Given the description of an element on the screen output the (x, y) to click on. 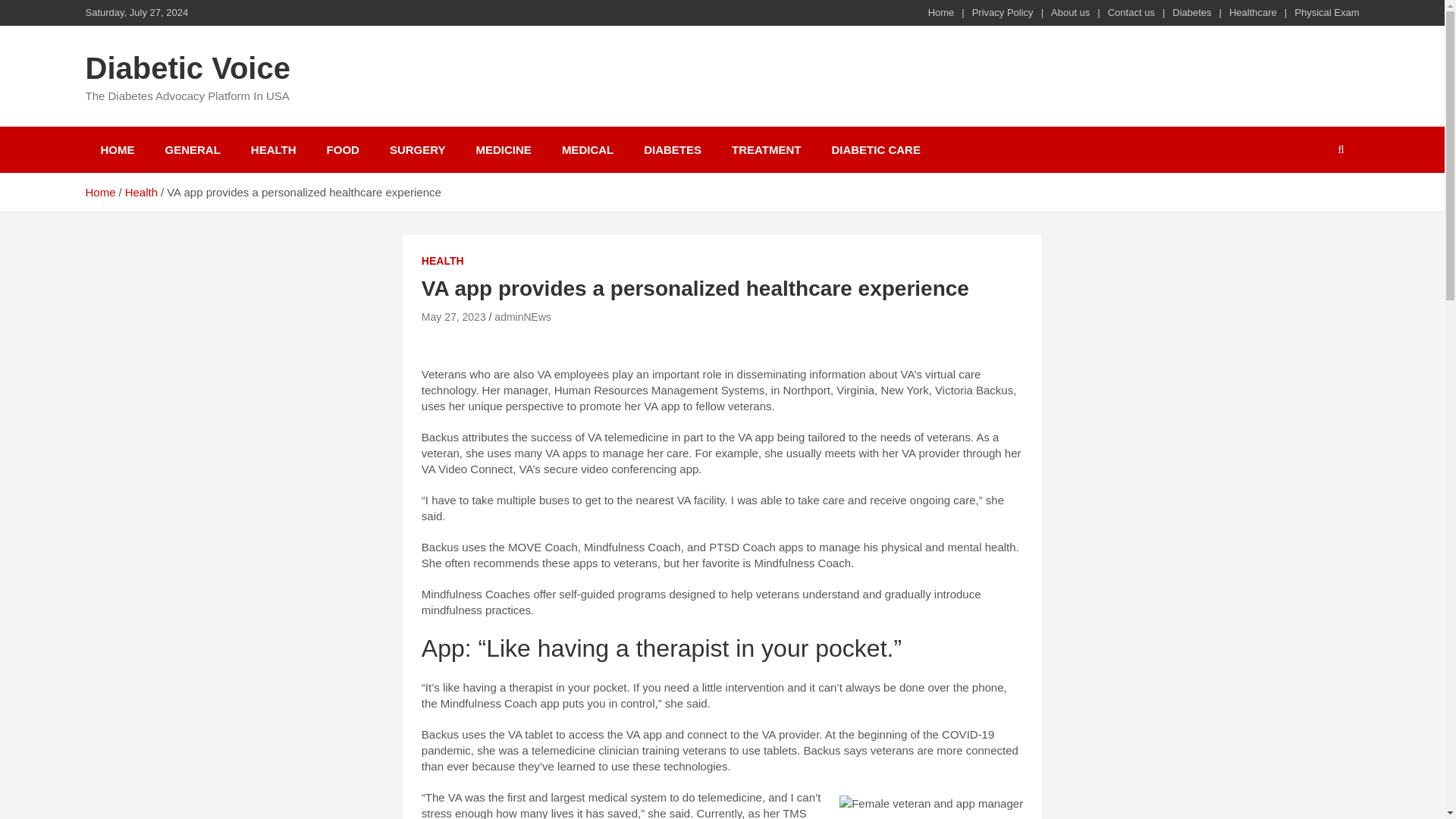
Diabetes (1191, 12)
MEDICINE (504, 149)
Physical Exam (1326, 12)
Health (141, 192)
Home (99, 192)
DIABETIC CARE (875, 149)
HEALTH (273, 149)
Diabetic Voice (186, 68)
DIABETES (672, 149)
Contact us (1131, 12)
adminNEws (523, 316)
MEDICAL (587, 149)
May 27, 2023 (454, 316)
Healthcare (1252, 12)
GENERAL (192, 149)
